Given the description of an element on the screen output the (x, y) to click on. 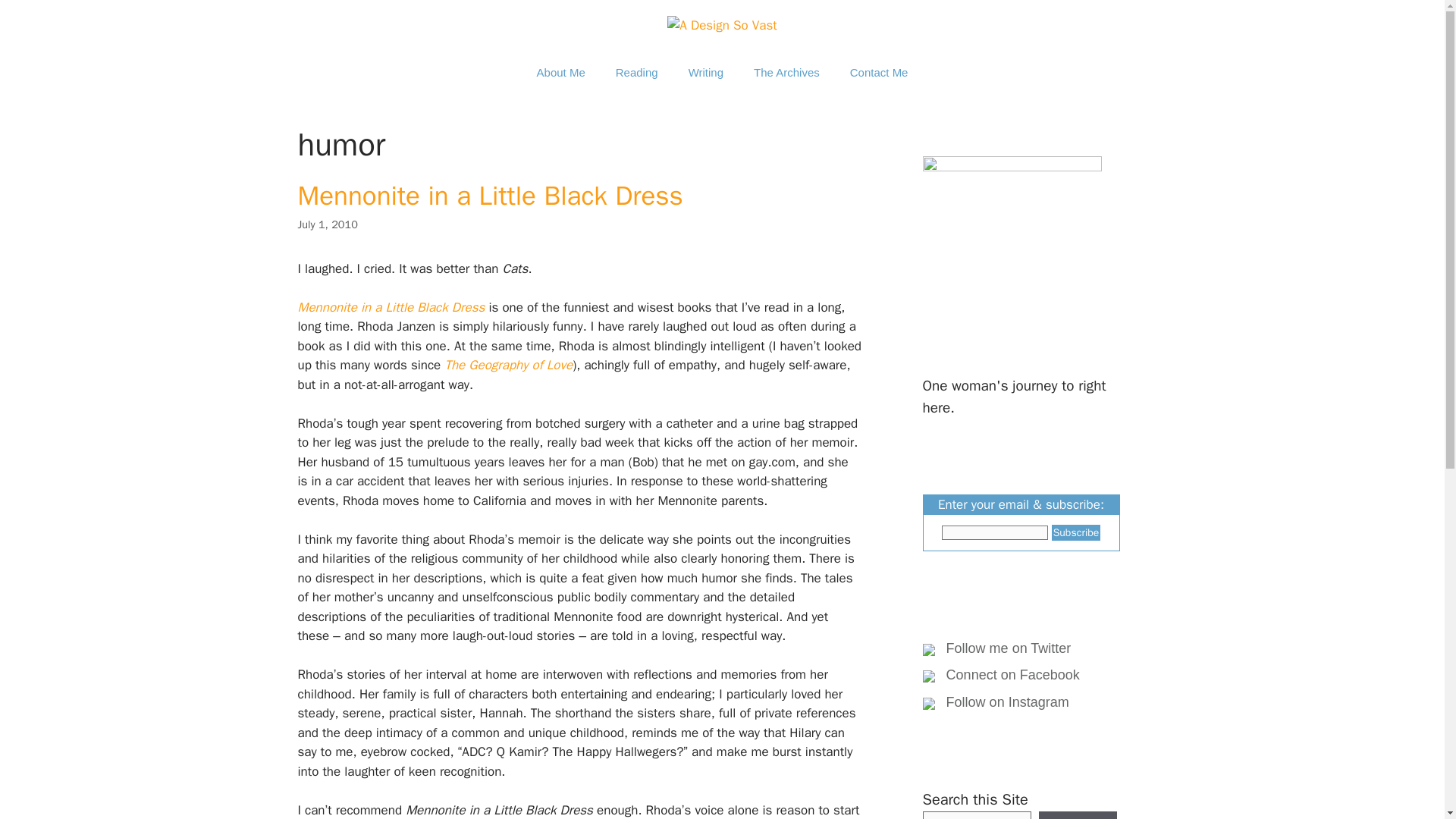
About Me (560, 72)
Follow me on Twitter (1005, 648)
A Design So Vast (721, 24)
Reading (635, 72)
Search (1077, 815)
Subscribe (1075, 532)
Mennonite in a Little Black Dress (489, 195)
The Geography of Love (508, 365)
Connect on Facebook (1009, 674)
The Archives (786, 72)
